Given the description of an element on the screen output the (x, y) to click on. 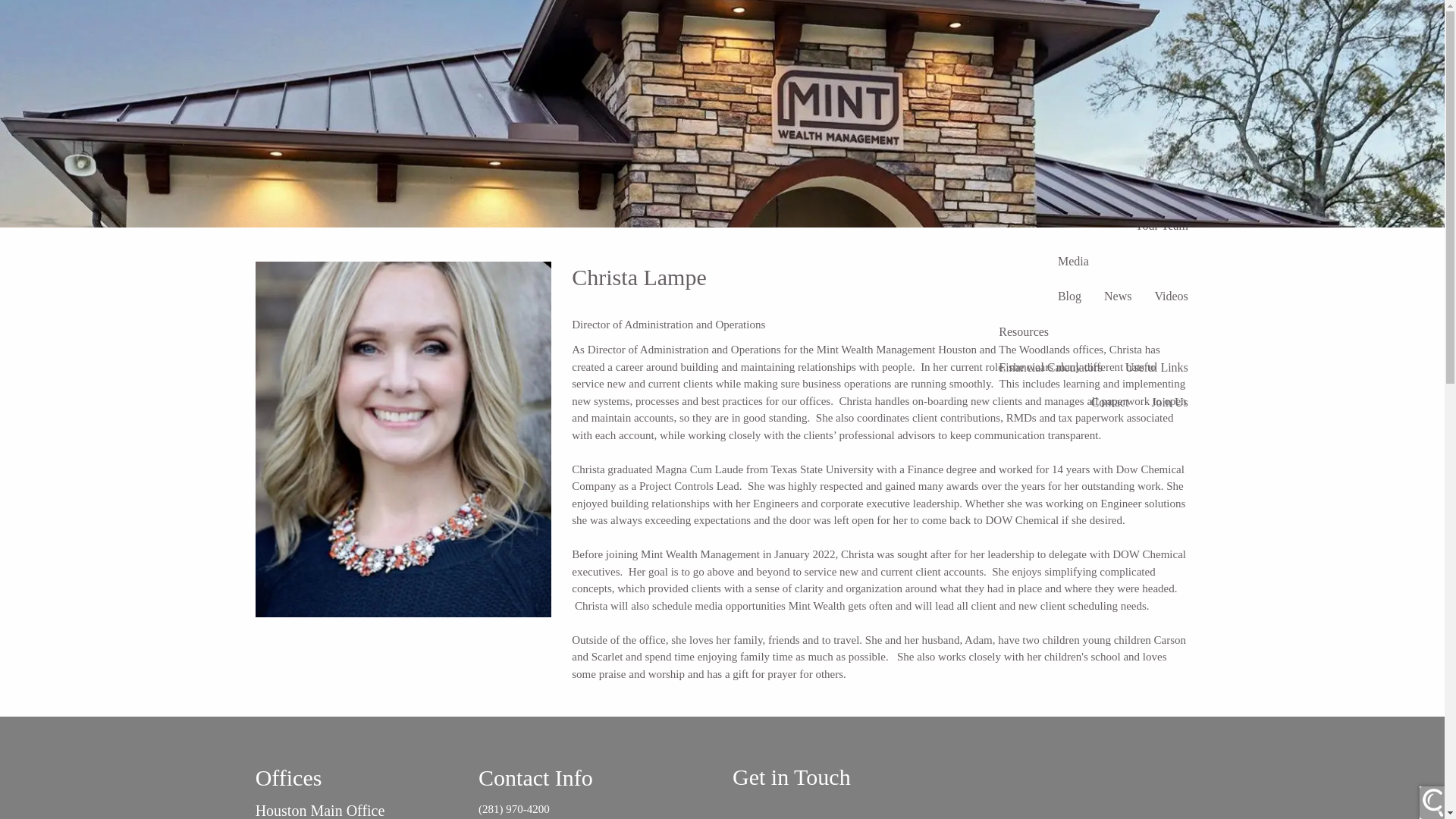
Financial Calculators (1050, 366)
Contact (1110, 402)
Resources (1093, 332)
Your Team (1161, 226)
News (1117, 296)
Join Us (1169, 402)
Home (1035, 190)
Our Services (1156, 190)
Schedule a Conversation (1100, 21)
Useful Links (1156, 366)
About (1087, 190)
Blog (1069, 296)
Media (1122, 261)
Videos (1170, 296)
